Given the description of an element on the screen output the (x, y) to click on. 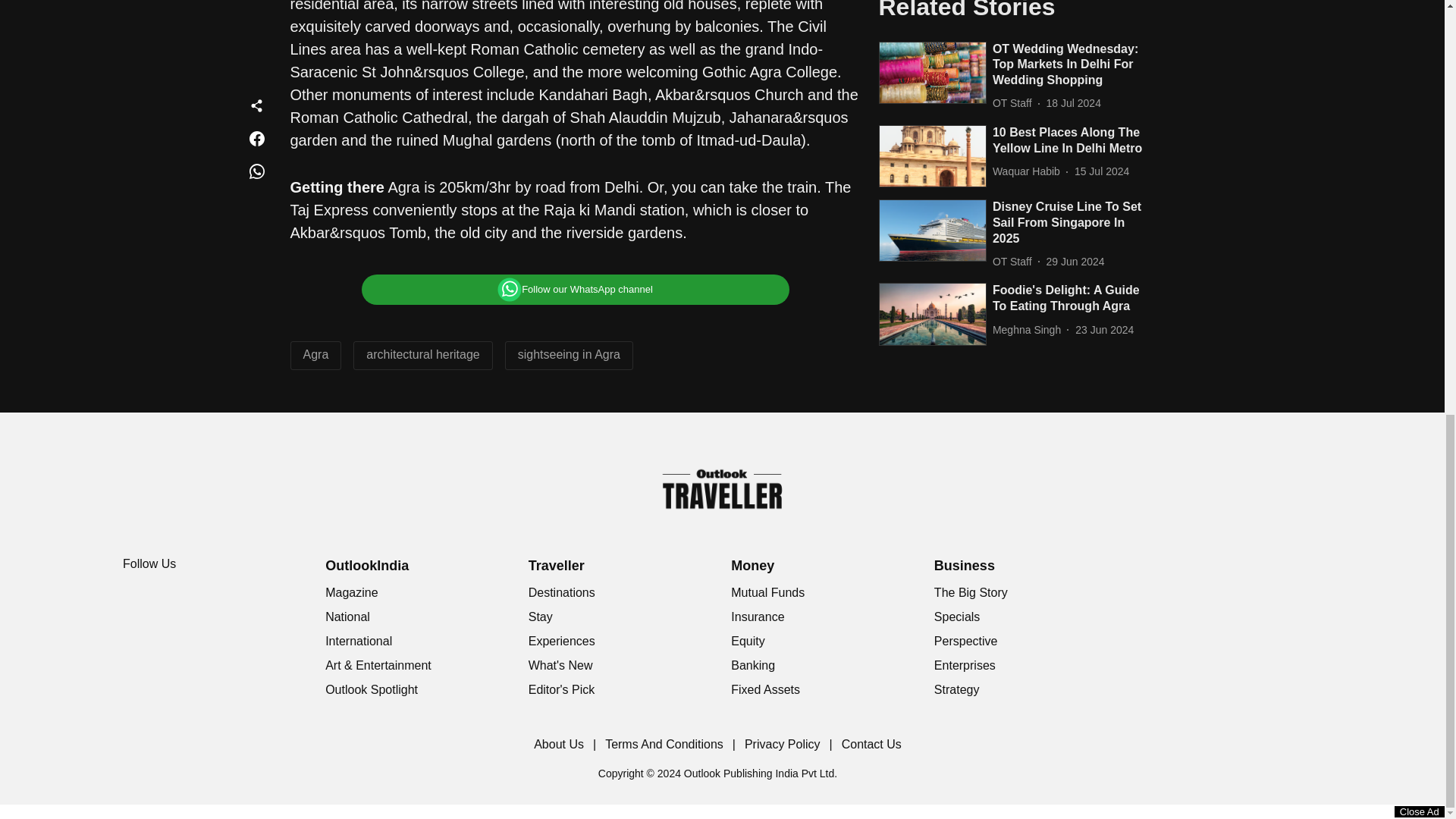
2024-06-23 02:30 (1104, 3)
Follow our WhatsApp channel (575, 289)
Agra (315, 354)
architectural heritage (422, 354)
sightseeing in Agra (569, 354)
